Given the description of an element on the screen output the (x, y) to click on. 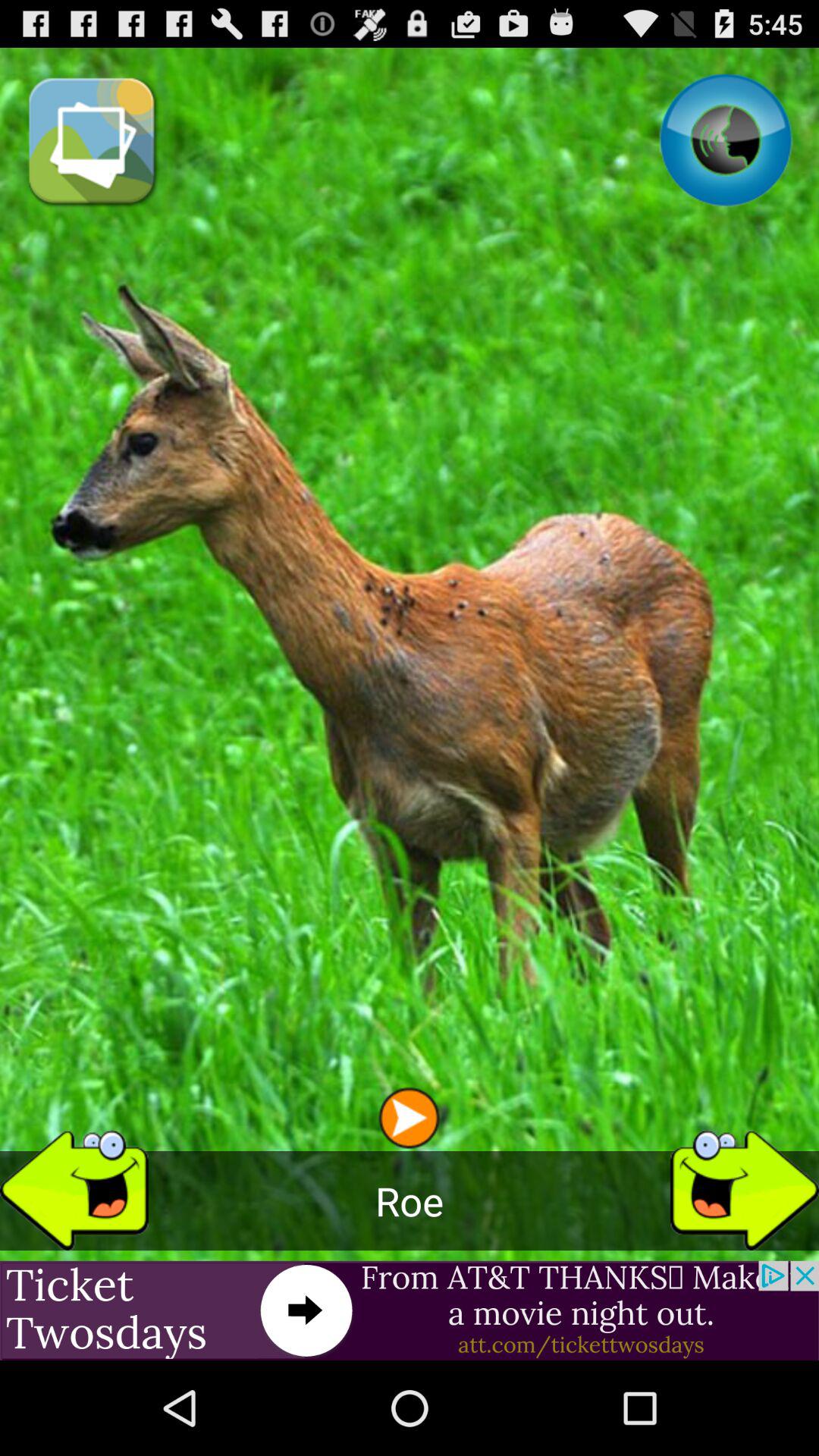
click the item at the bottom right corner (744, 1184)
